Given the description of an element on the screen output the (x, y) to click on. 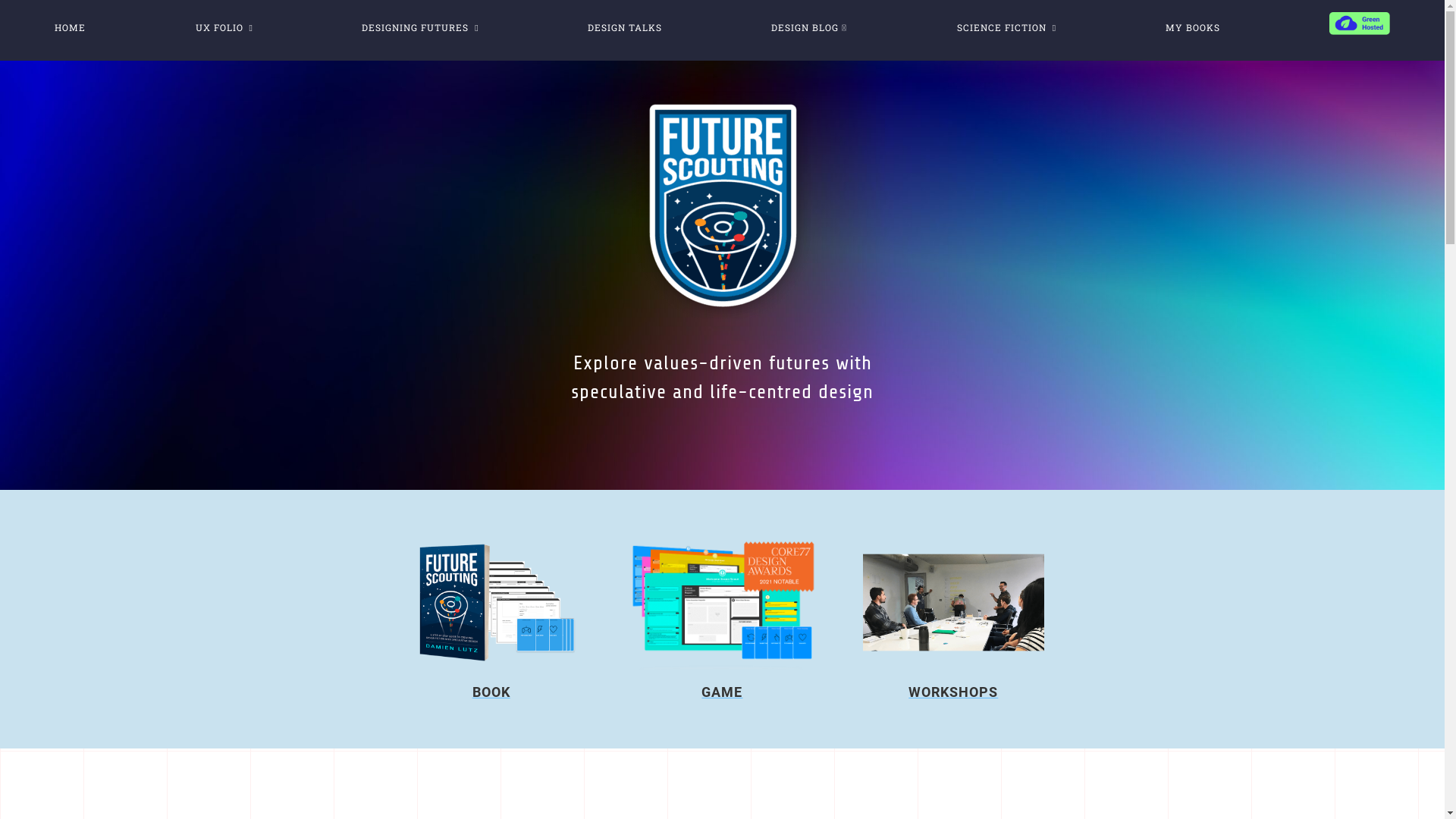
SCIENCE FICTION Element type: text (1006, 26)
GAME Element type: text (721, 691)
Logo-02-edit2 Element type: hover (722, 204)
tile-fs-book-resources-jul21-3 (2) Element type: hover (490, 602)
MY BOOKS Element type: text (1192, 26)
workshop Element type: hover (953, 602)
BOOK Element type: text (491, 691)
UX FOLIO Element type: text (223, 26)
tool-tiles-game-all-12-2-1 Element type: hover (722, 602)
WORKSHOPS Element type: text (952, 691)
DESIGNING FUTURES Element type: text (420, 26)
DESIGN TALKS Element type: text (624, 26)
HOME Element type: text (70, 26)
